Given the description of an element on the screen output the (x, y) to click on. 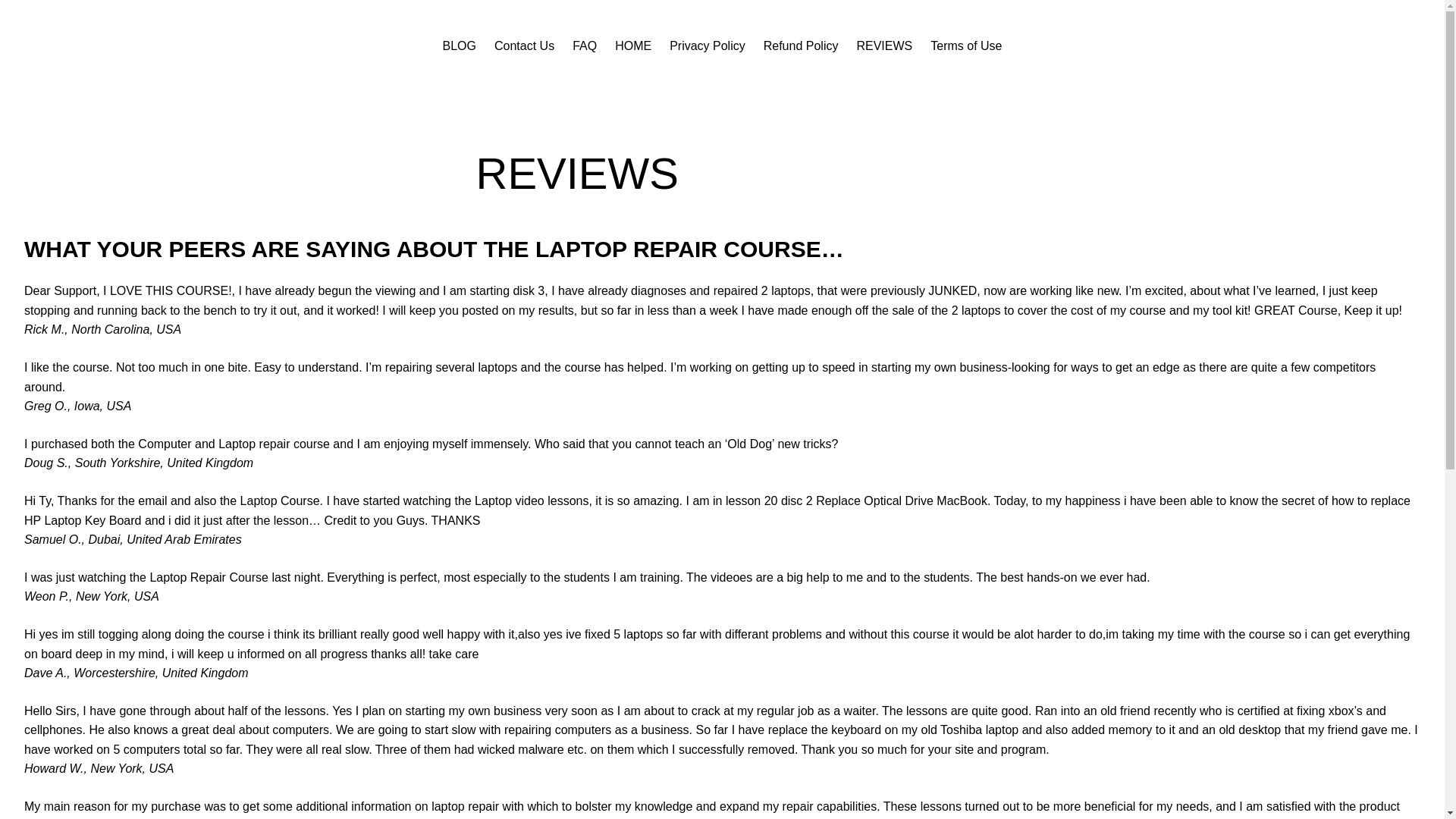
REVIEWS (884, 46)
Refund Policy (800, 46)
Contact Us (524, 46)
HOME (632, 46)
FAQ (584, 46)
Terms of Use (965, 46)
Privacy Policy (707, 46)
BLOG (459, 46)
